Given the description of an element on the screen output the (x, y) to click on. 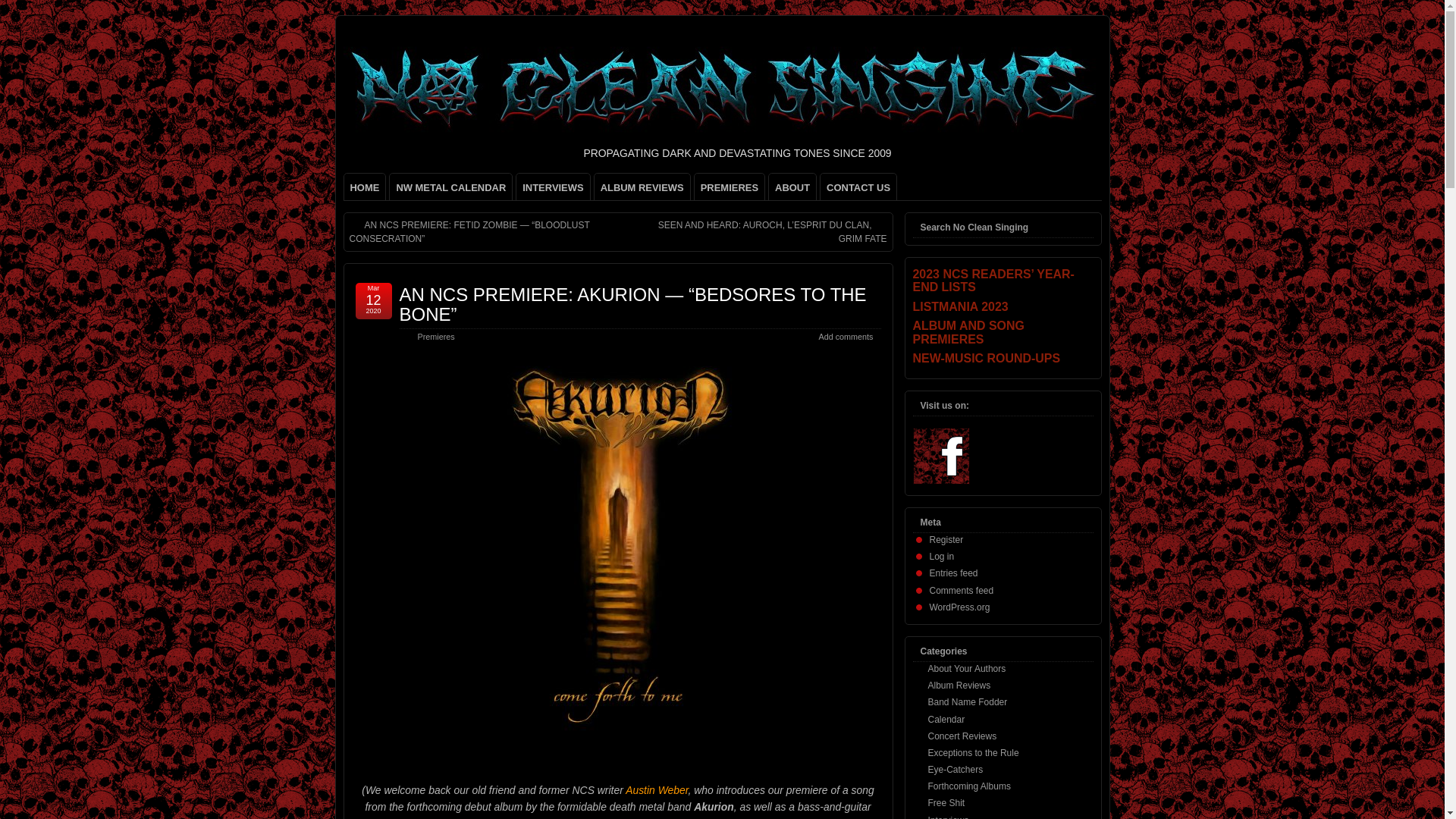
CONTACT US (858, 186)
Add comments (845, 336)
HOME (364, 186)
Log in (942, 556)
ABOUT (791, 186)
Entries feed (954, 573)
Register (946, 539)
Comments feed (962, 590)
ALBUM REVIEWS (642, 186)
About Your Authors (967, 668)
LISTMANIA 2023 (1002, 306)
PREMIERES (729, 186)
Premieres (435, 336)
INTERVIEWS (552, 186)
NW METAL CALENDAR (451, 186)
